Given the description of an element on the screen output the (x, y) to click on. 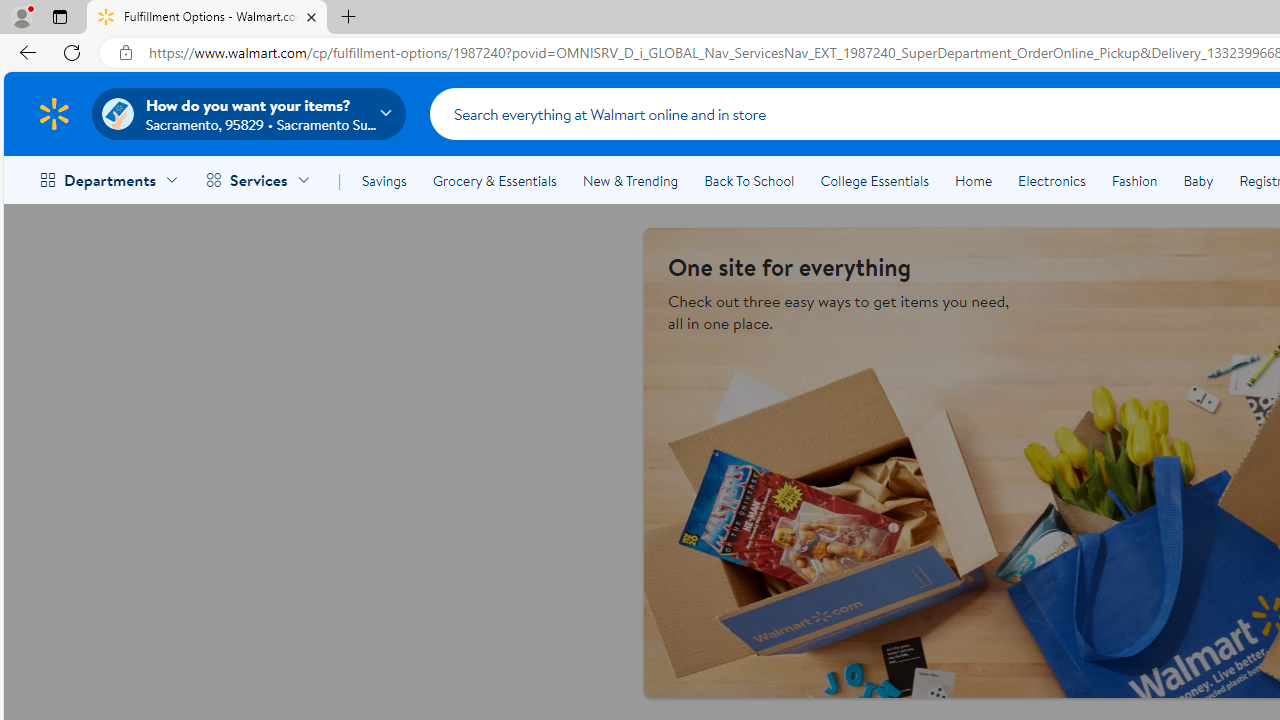
Walmart Homepage (53, 113)
New & Trending (630, 180)
Savings (384, 180)
Grocery & Essentials (493, 180)
Fulfillment Options - Walmart.com (207, 17)
Grocery & Essentials (493, 180)
Electronics (1051, 180)
Back To School (749, 180)
Fashion (1134, 180)
